Given the description of an element on the screen output the (x, y) to click on. 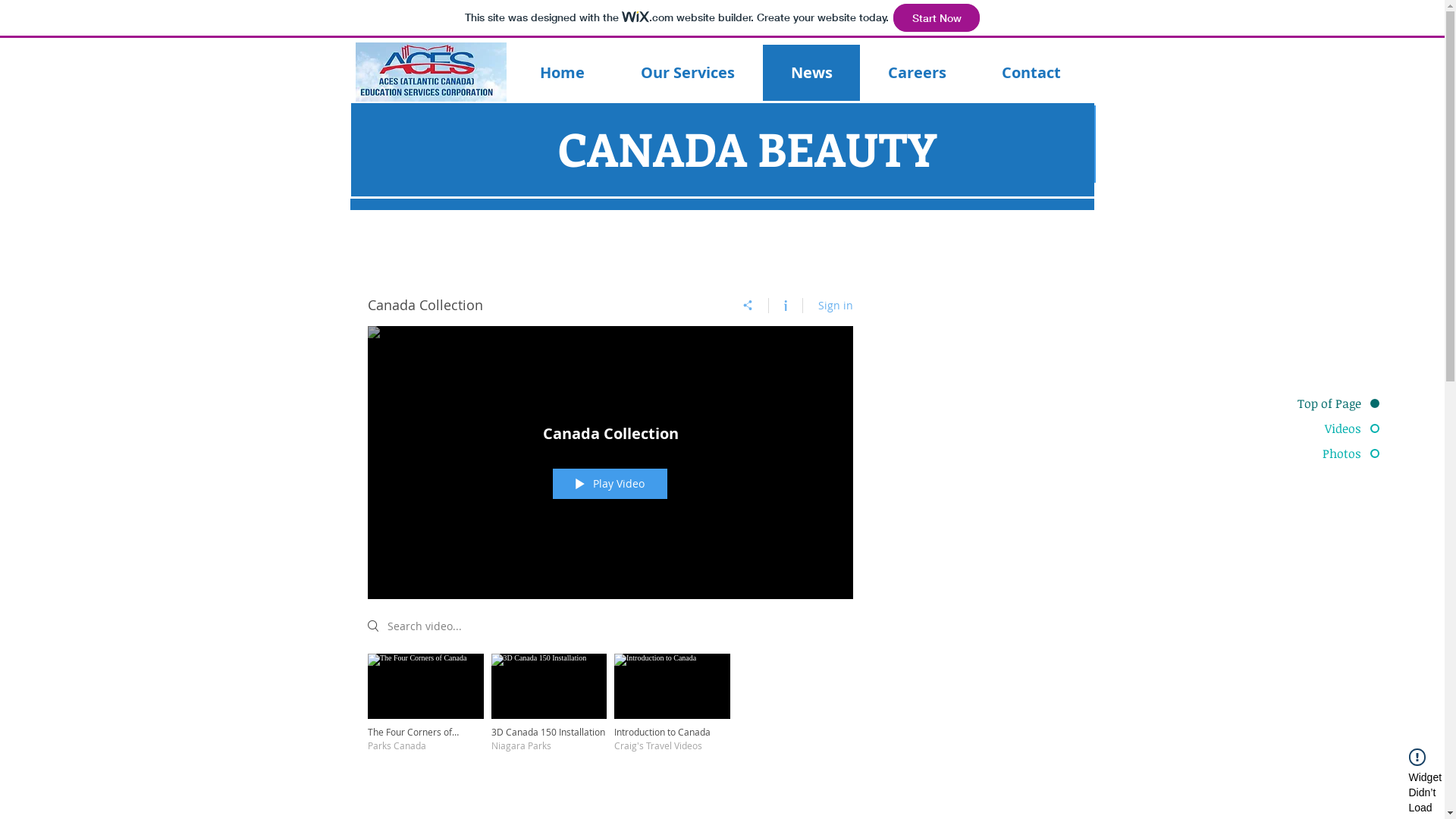
Videos Element type: text (1321, 428)
Home Element type: text (562, 72)
Careers Element type: text (916, 72)
Photos Element type: text (1321, 453)
Contact Element type: text (1030, 72)
Our Services Element type: text (687, 72)
News Element type: text (810, 72)
Top of Page Element type: text (1321, 403)
Sign in Element type: text (834, 304)
Play Video Element type: text (609, 483)
